Given the description of an element on the screen output the (x, y) to click on. 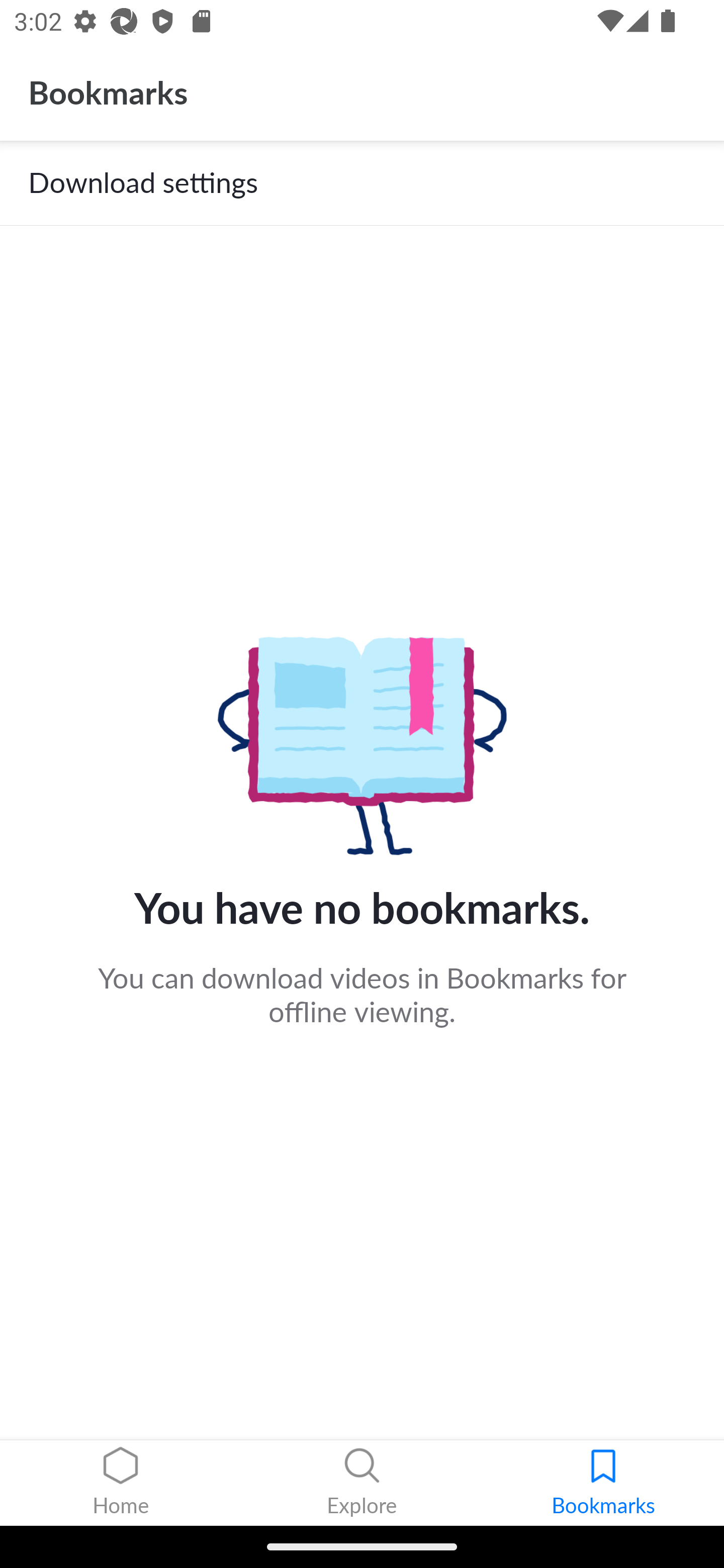
Download settings (362, 183)
Home (120, 1482)
Explore (361, 1482)
Bookmarks (603, 1482)
